Given the description of an element on the screen output the (x, y) to click on. 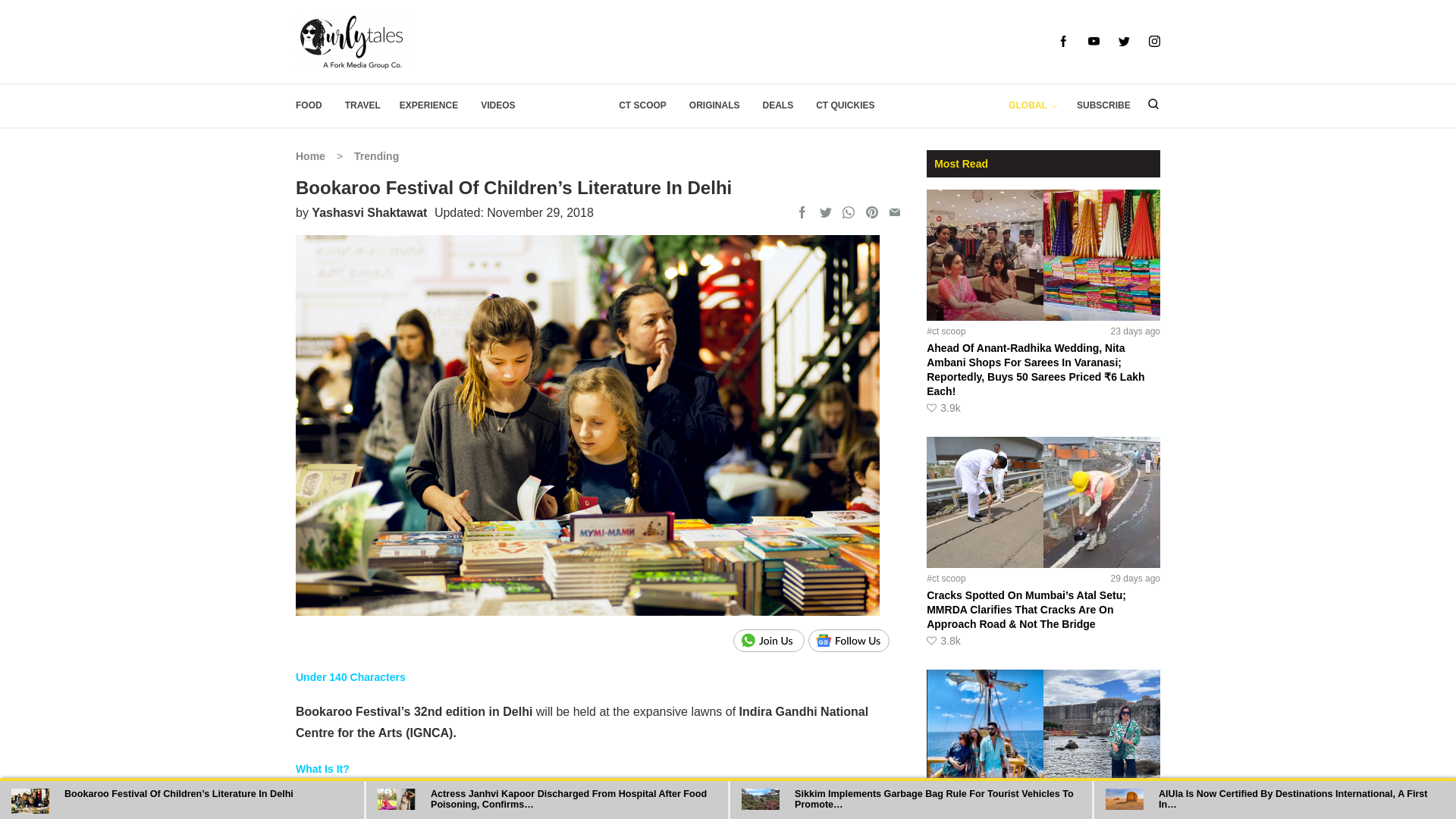
FOOD (308, 105)
